Given the description of an element on the screen output the (x, y) to click on. 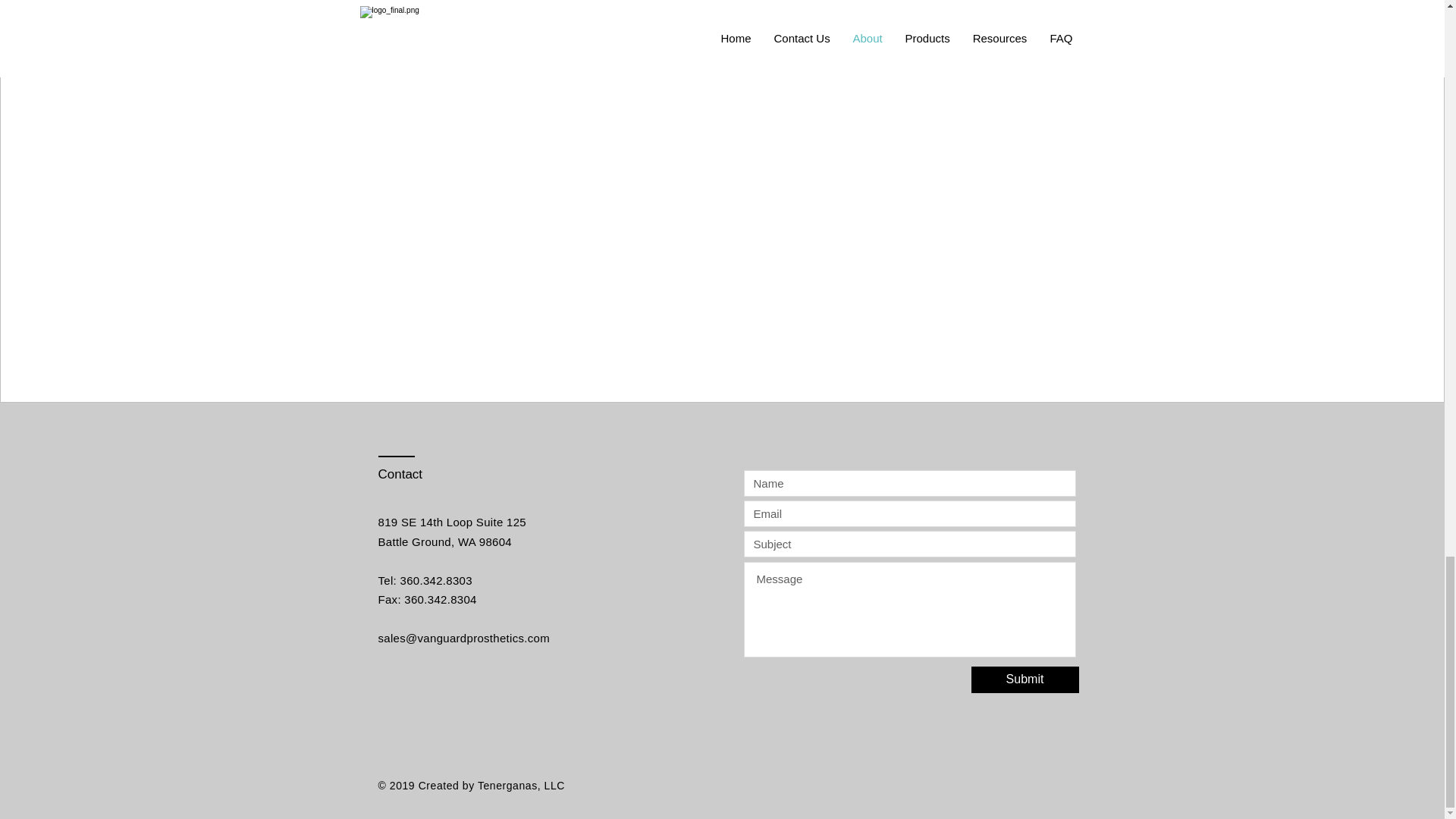
Submit (1024, 679)
